Given the description of an element on the screen output the (x, y) to click on. 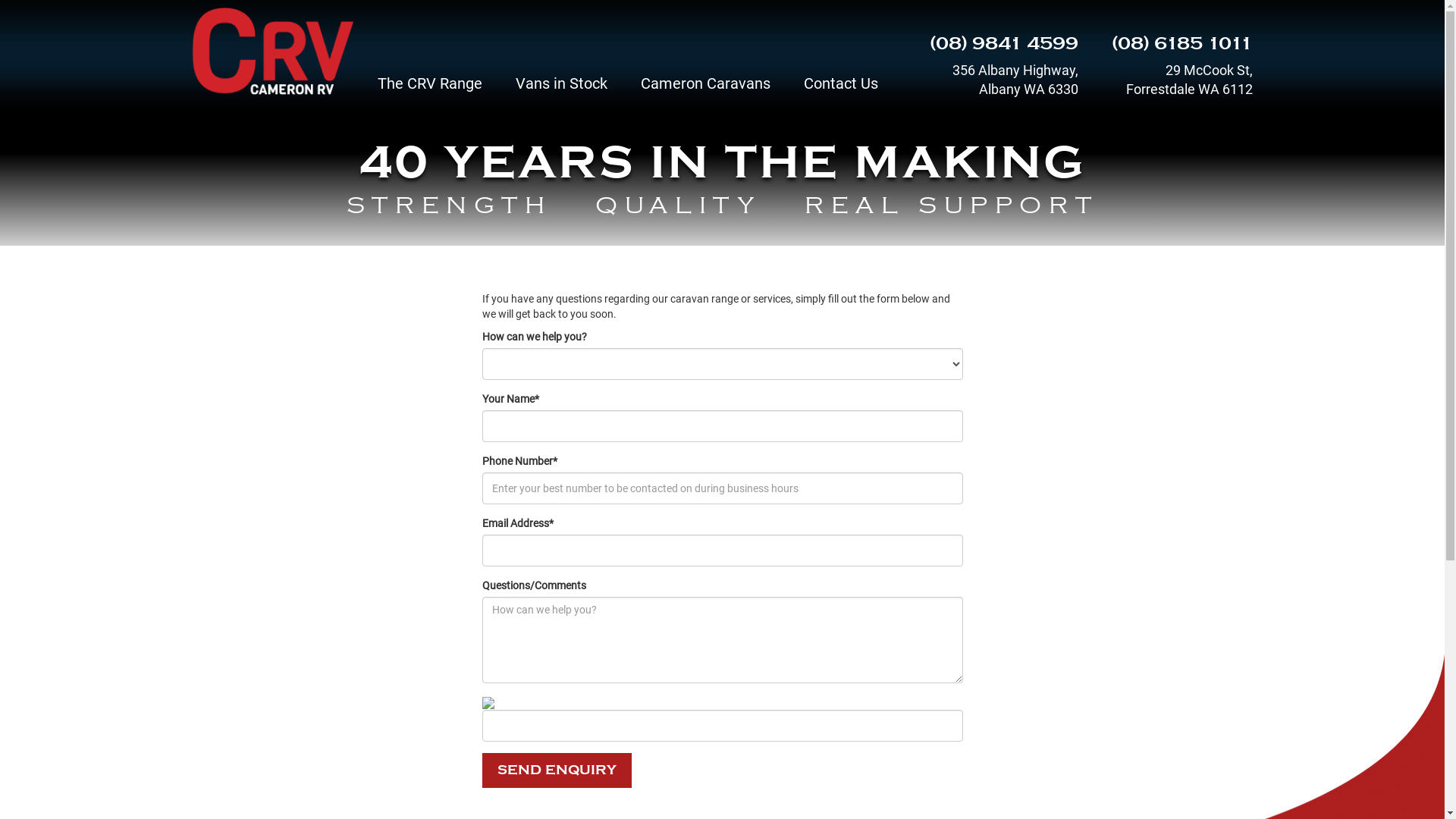
SEND ENQUIRY Element type: text (556, 770)
29 McCook St, Forrestdale WA 6112 Element type: text (1176, 79)
(08) 9841 4599 Element type: text (1003, 43)
The CRV Range Element type: text (429, 90)
Contact Us Element type: text (840, 90)
Cameron Caravans Element type: text (704, 90)
(08) 6185 1011 Element type: text (1181, 43)
Vans in Stock Element type: text (561, 90)
356 Albany Highway, Albany WA 6330 Element type: text (1002, 79)
